Given the description of an element on the screen output the (x, y) to click on. 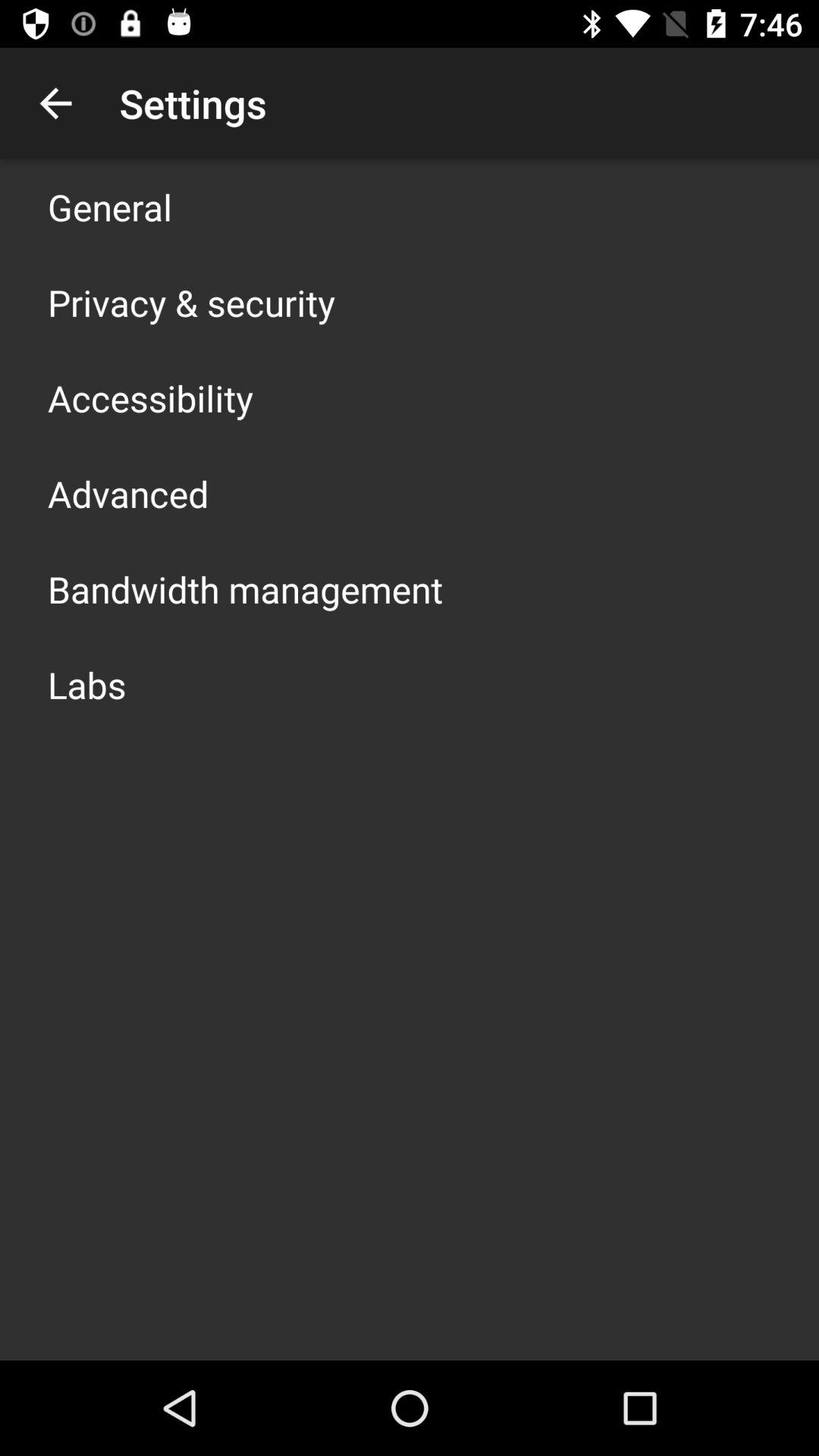
launch accessibility app (150, 397)
